Given the description of an element on the screen output the (x, y) to click on. 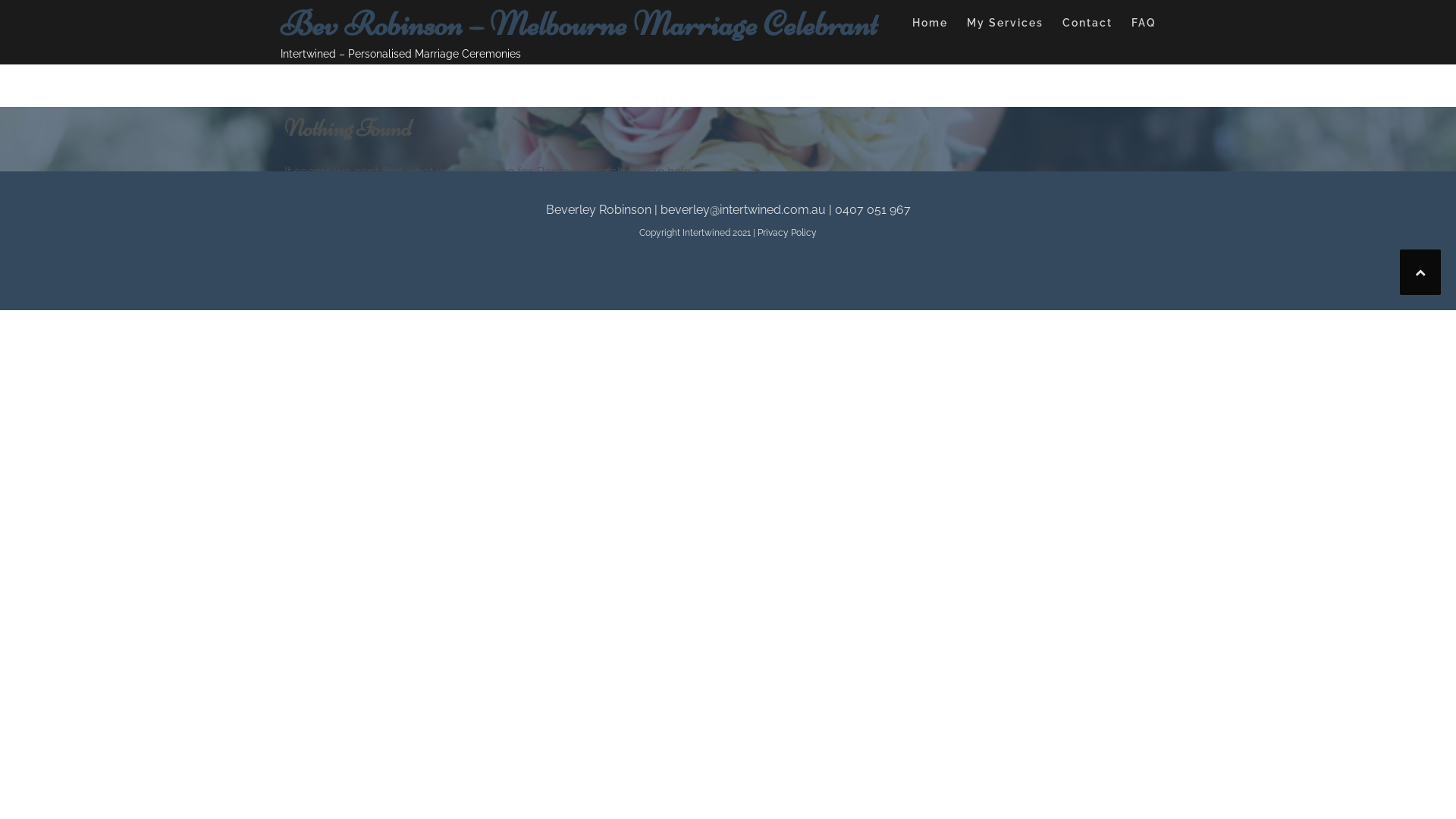
My Services Element type: text (1004, 25)
Privacy Policy Element type: text (786, 232)
Search Element type: text (470, 215)
Contact Element type: text (1087, 25)
FAQ Element type: text (1143, 25)
Skip to content Element type: text (0, 0)
Home Element type: text (929, 25)
